Given the description of an element on the screen output the (x, y) to click on. 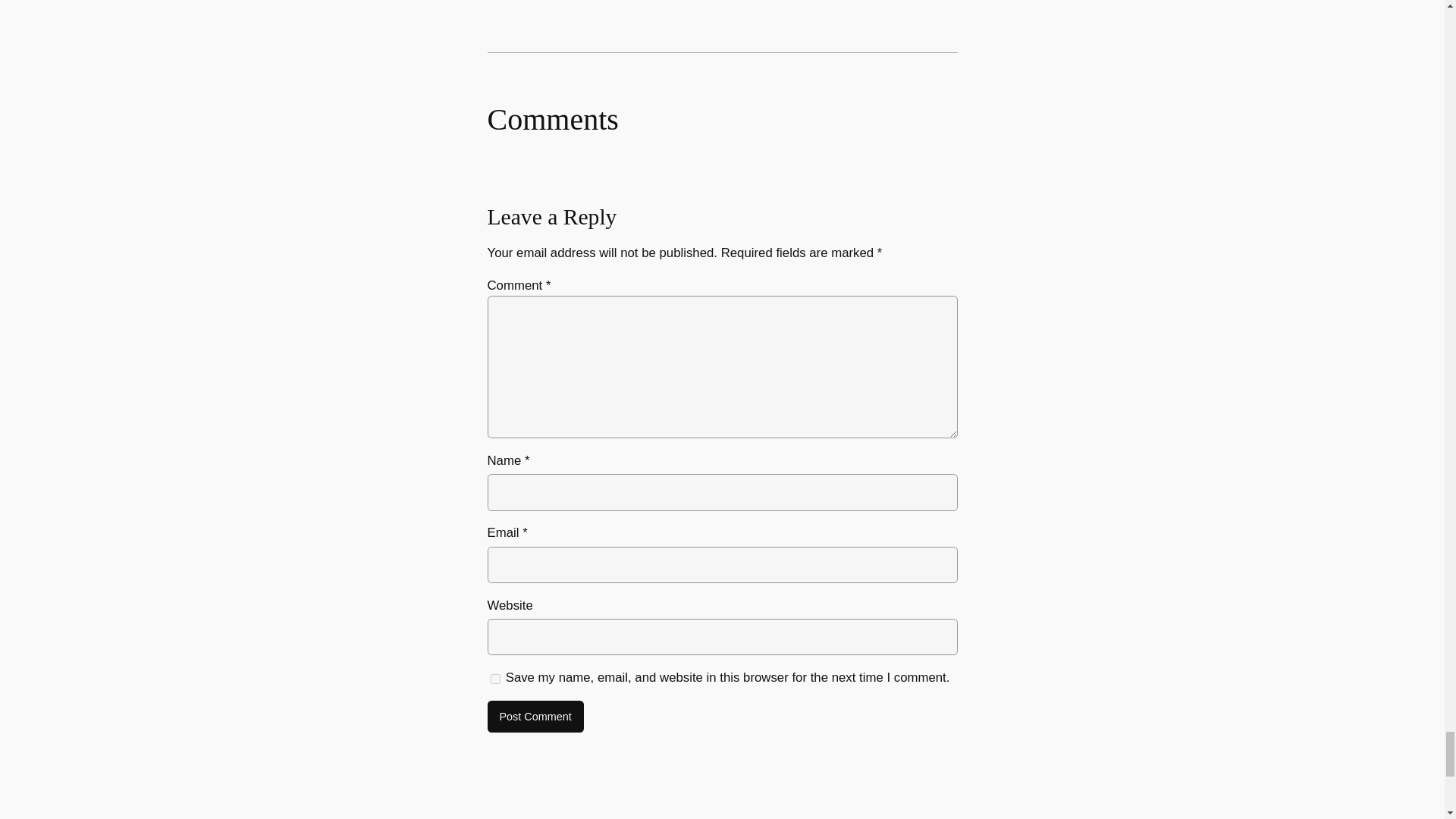
Post Comment (534, 716)
Post Comment (534, 716)
